Given the description of an element on the screen output the (x, y) to click on. 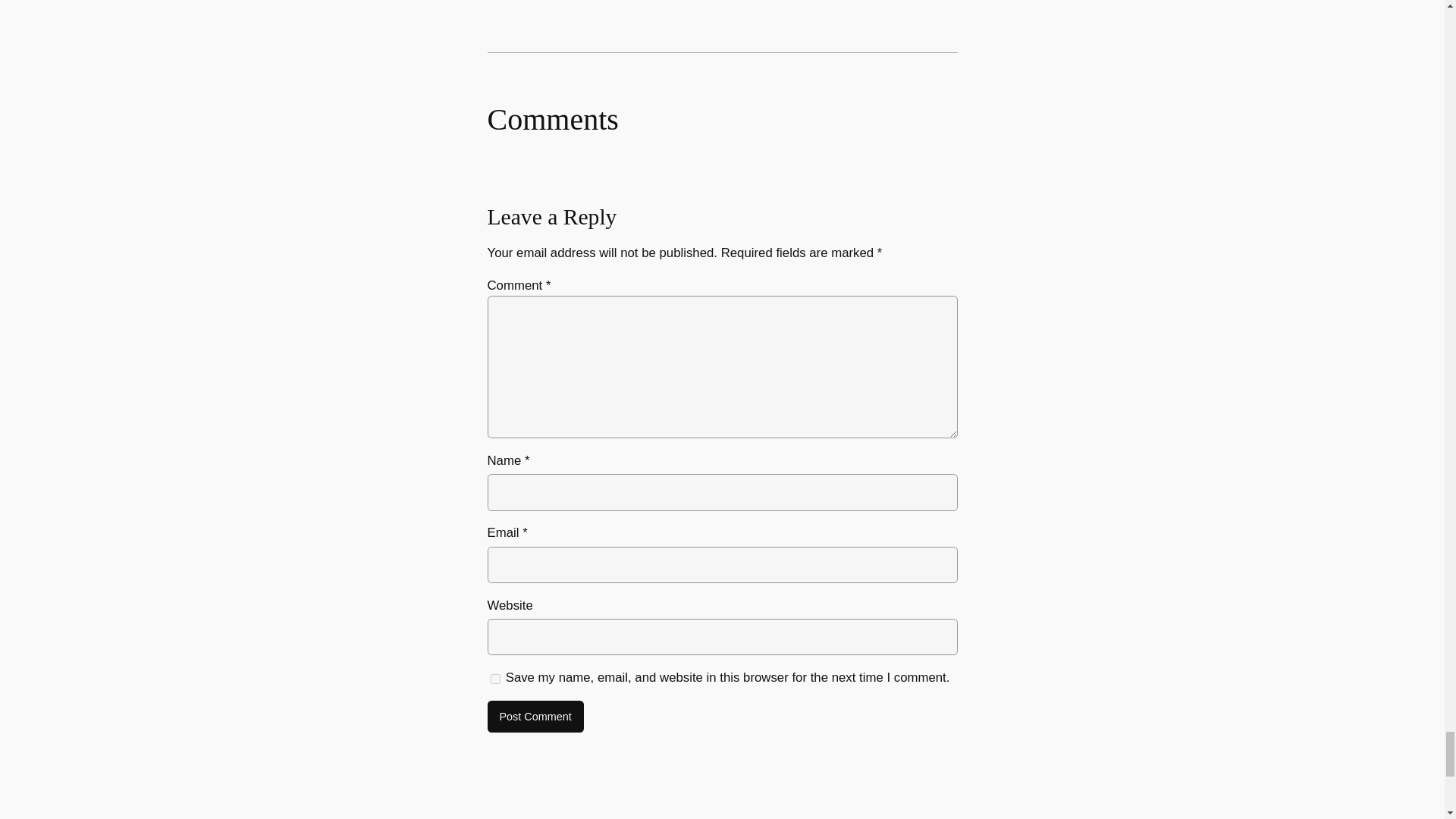
Post Comment (534, 716)
Post Comment (534, 716)
